Given the description of an element on the screen output the (x, y) to click on. 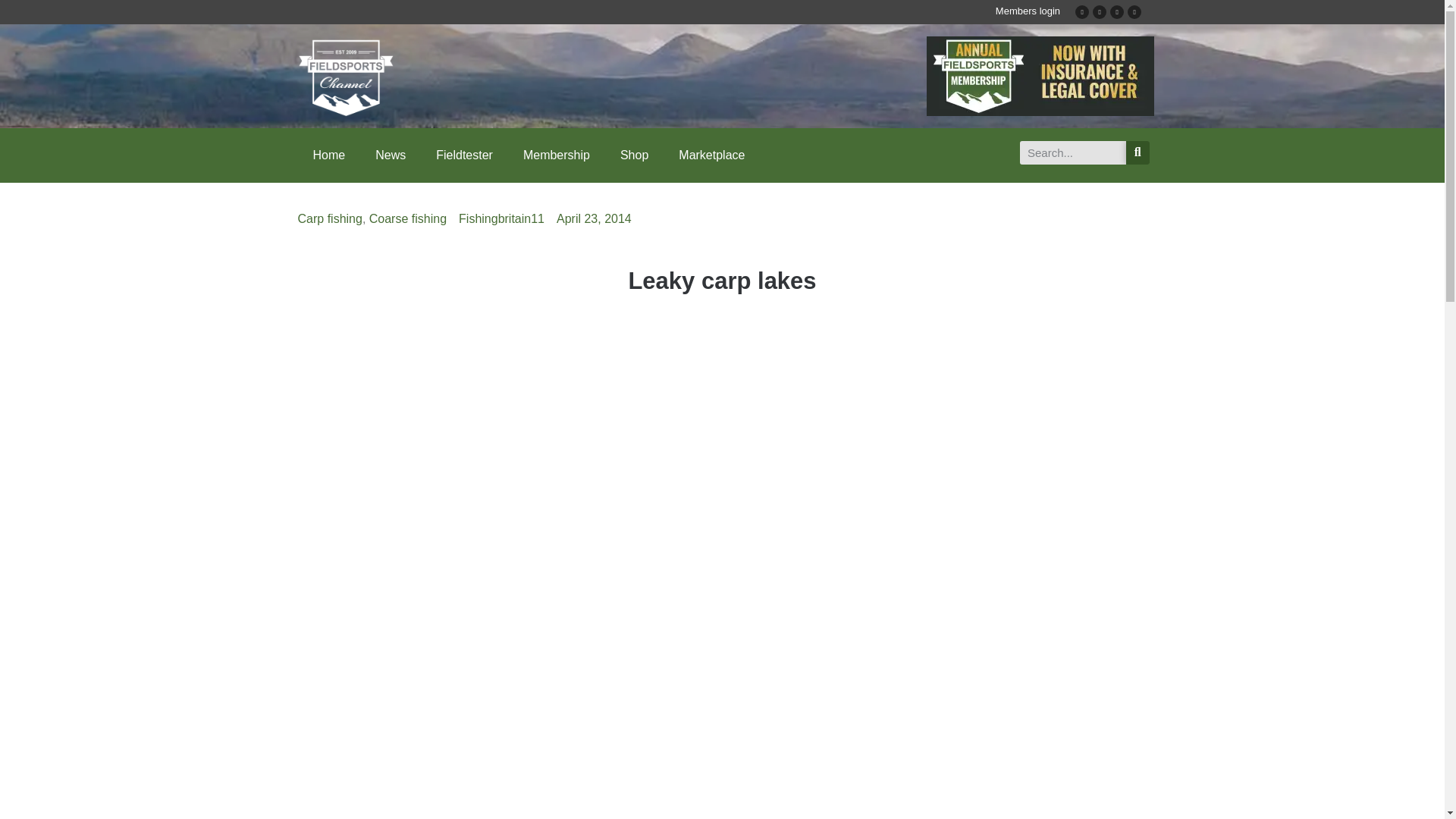
Shop (634, 155)
Marketplace (711, 155)
Members login (1027, 10)
Membership (556, 155)
News (389, 155)
Home (328, 155)
Fieldtester (464, 155)
